Given the description of an element on the screen output the (x, y) to click on. 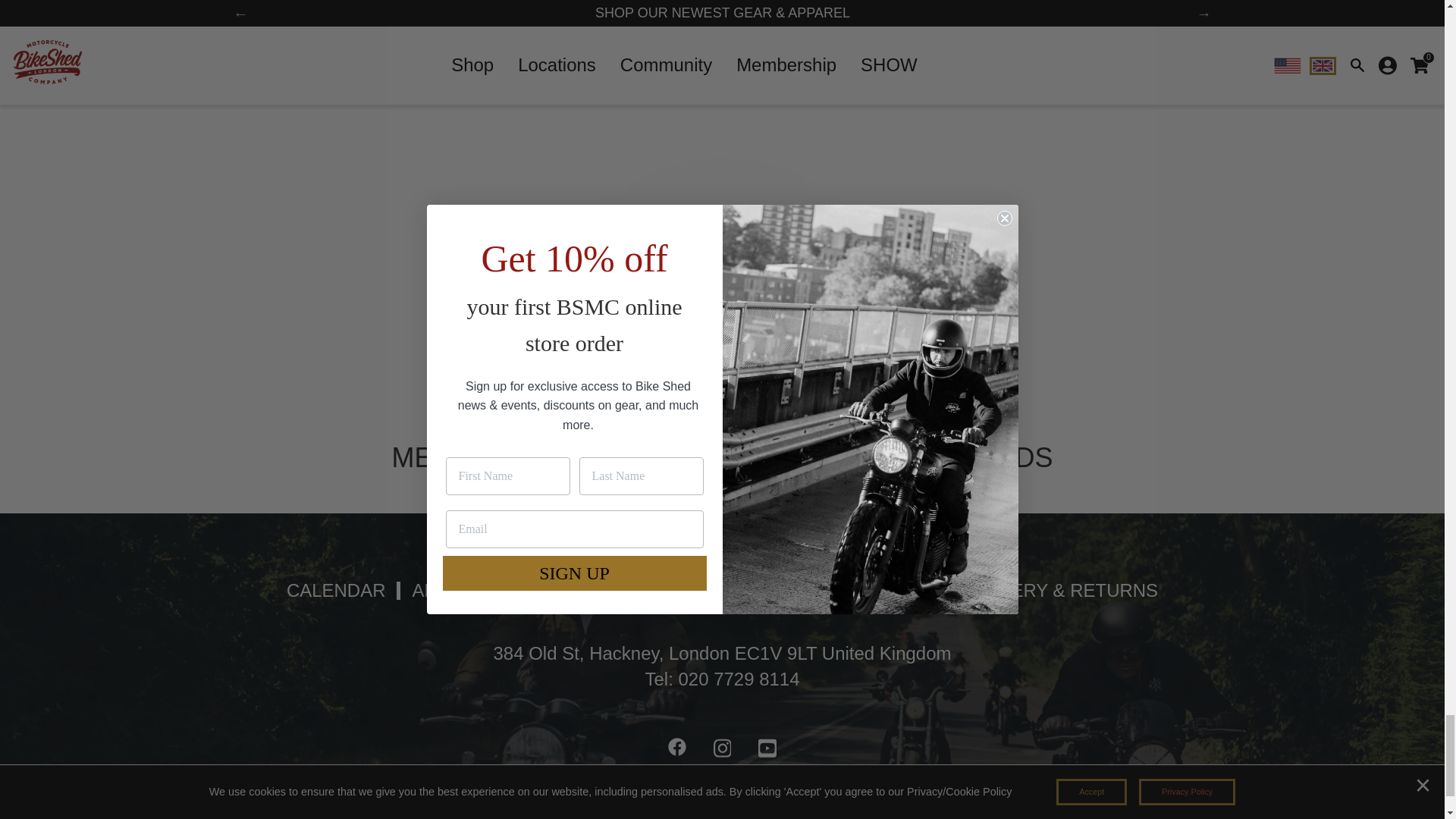
Bike Shed Motorcycle Club on Facebook (677, 749)
Bike Shed Motorcycle Club on Instagram (722, 749)
Bike Shed Motorcycle Club on YouTube (767, 749)
